Given the description of an element on the screen output the (x, y) to click on. 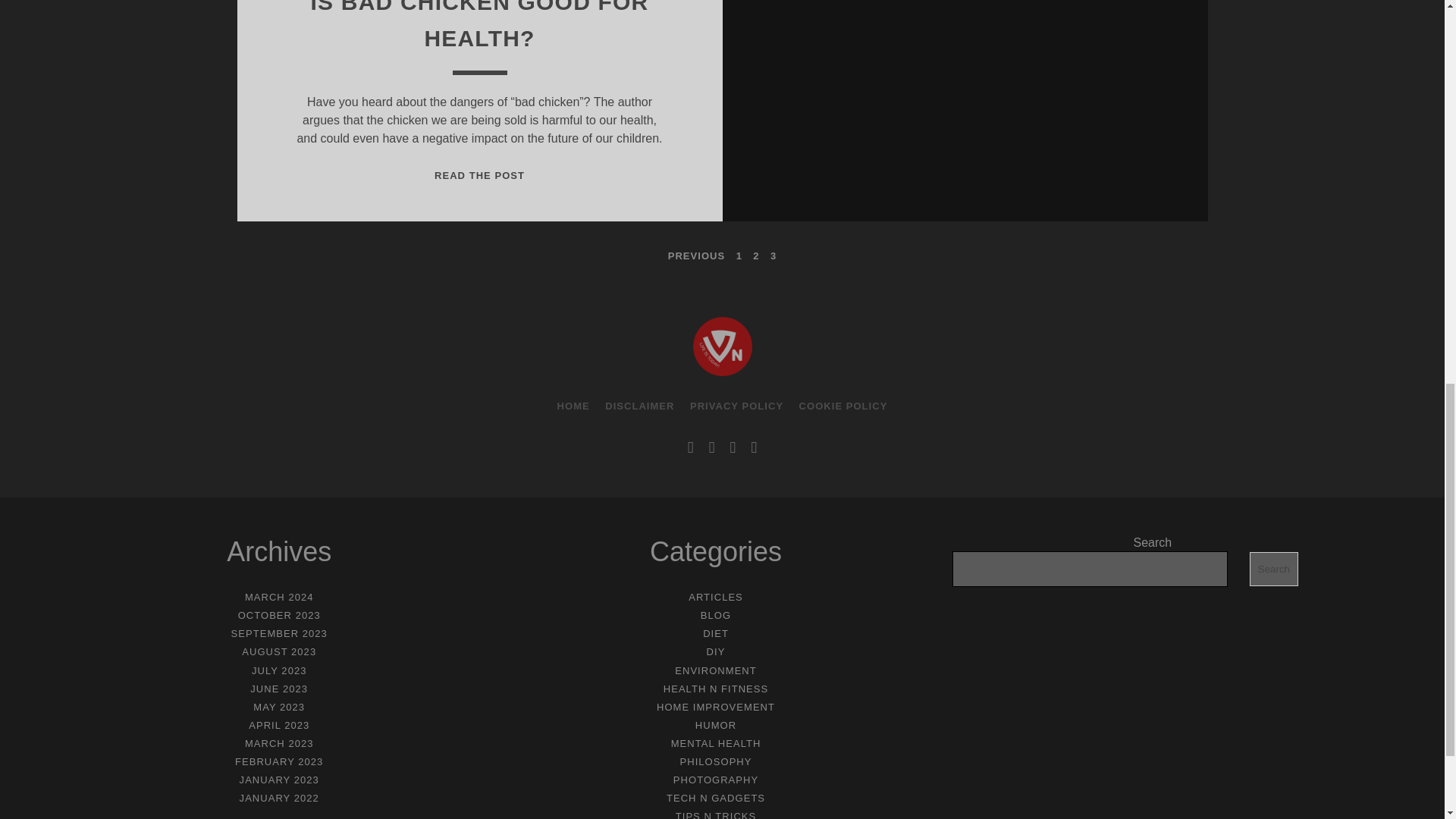
COOKIE POLICY (843, 406)
MARCH 2024 (279, 596)
OCTOBER 2023 (279, 614)
AUGUST 2023 (478, 174)
DISCLAIMER (278, 651)
SEPTEMBER 2023 (639, 406)
JULY 2023 (279, 633)
HOME (279, 670)
PREVIOUS (573, 406)
